Given the description of an element on the screen output the (x, y) to click on. 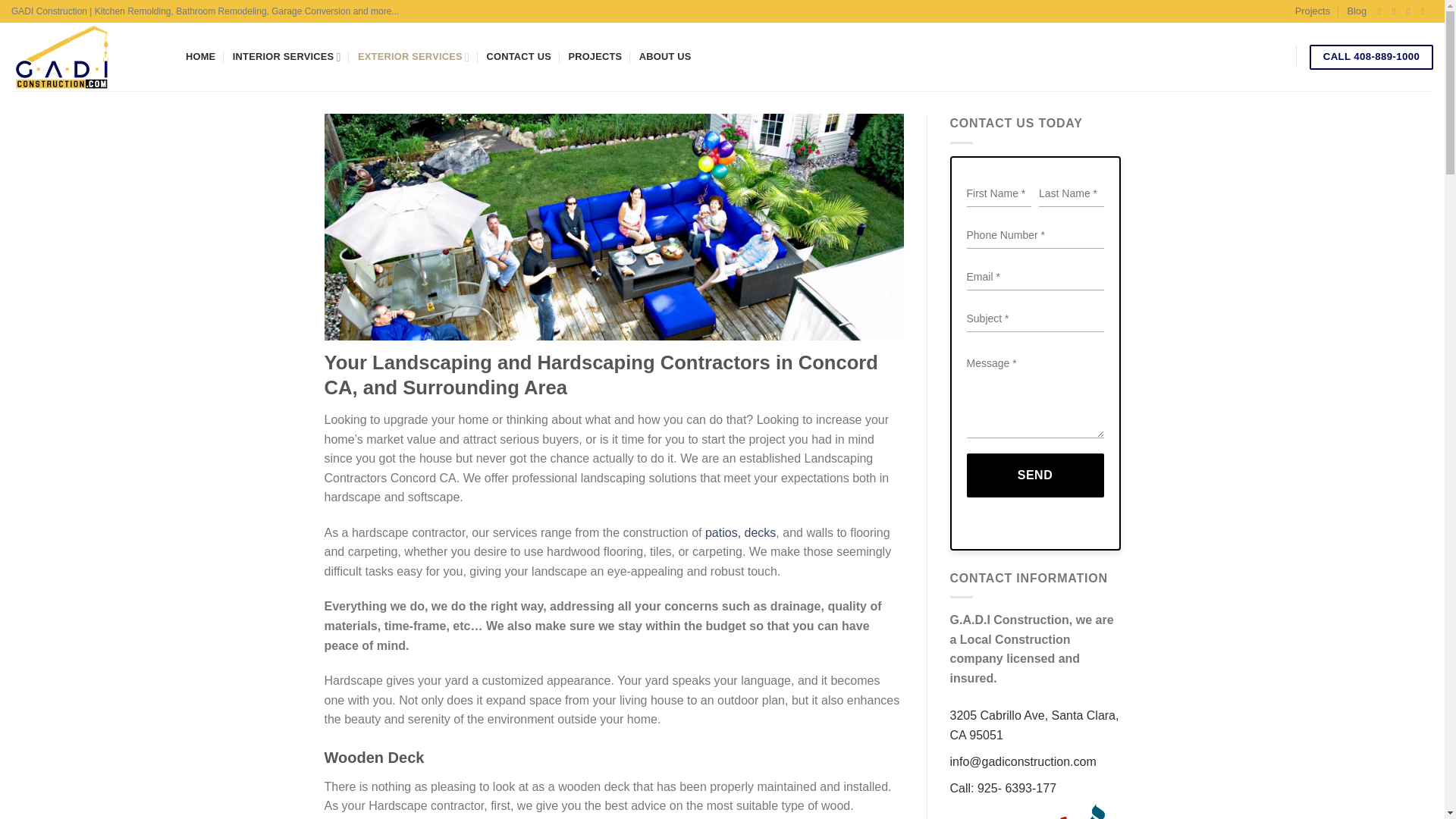
EXTERIOR SERVICES (413, 56)
ABOUT US (665, 56)
Projects (1312, 11)
HOME (200, 56)
SEND (1034, 475)
patios, decks (740, 532)
SEND (1034, 475)
INTERIOR SERVICES (286, 56)
CALL 408-889-1000 (1370, 57)
PROJECTS (594, 56)
3205 Cabrillo Ave, Santa Clara, CA 95051 (1033, 725)
Call: 925- 6393-177 (1003, 788)
CONTACT US (518, 56)
